Given the description of an element on the screen output the (x, y) to click on. 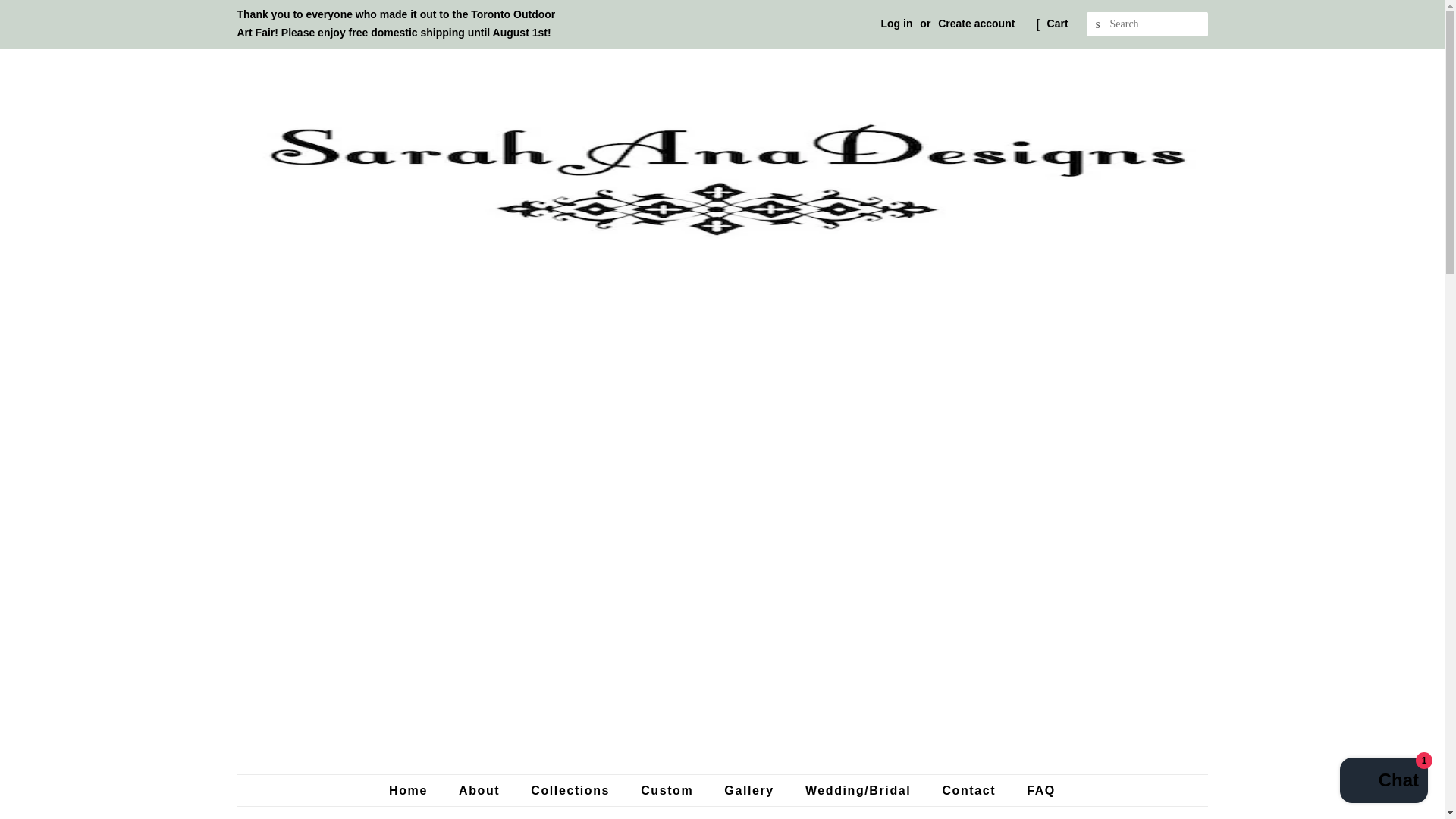
Contact (970, 789)
Custom (667, 789)
Log in (896, 23)
Gallery (751, 789)
Cart (1057, 24)
FAQ (1034, 789)
Create account (975, 23)
Search (1097, 24)
Home (415, 789)
Collections (571, 789)
Shopify online store chat (1383, 781)
About (480, 789)
